Given the description of an element on the screen output the (x, y) to click on. 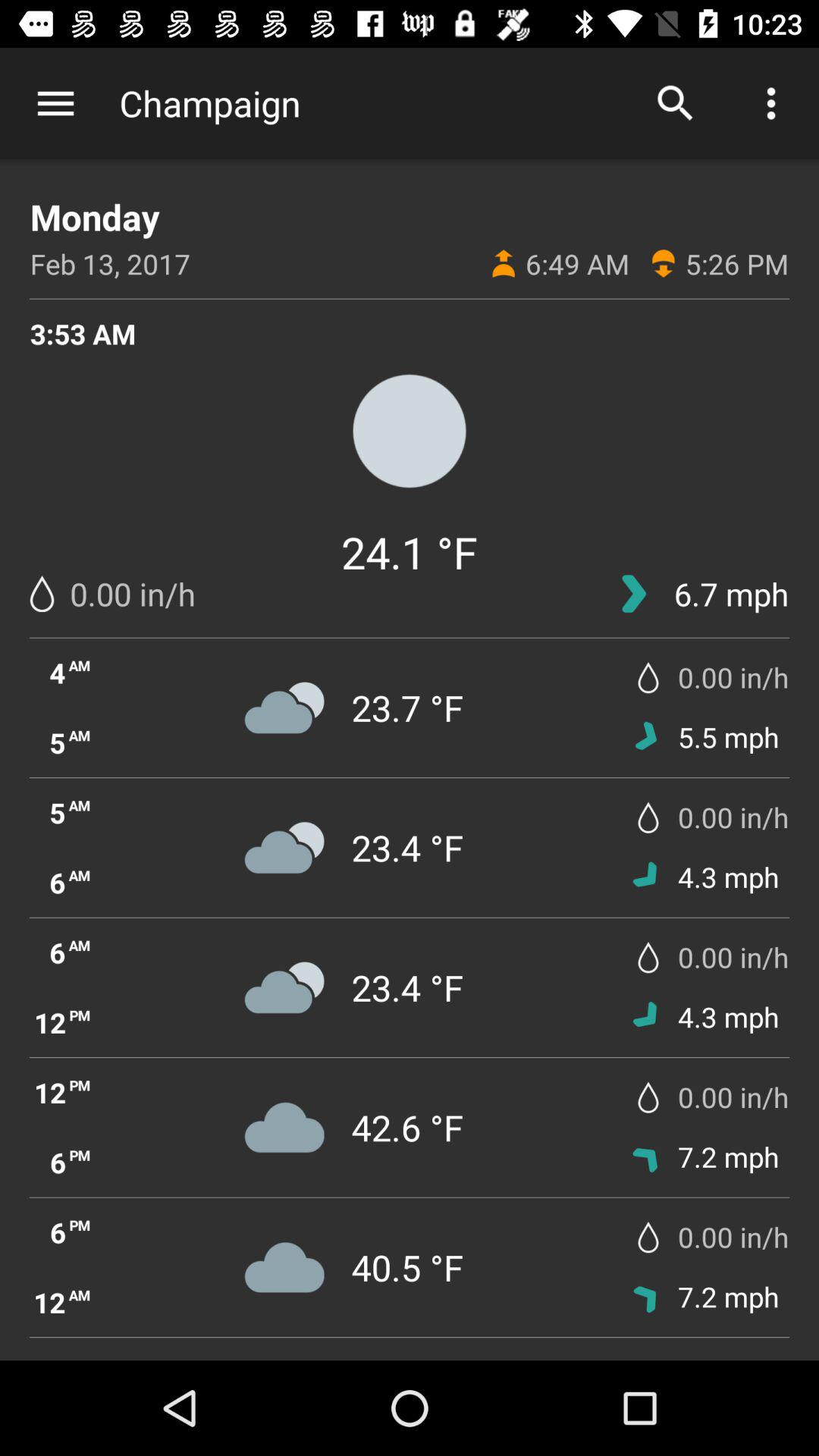
setting button (55, 103)
